Given the description of an element on the screen output the (x, y) to click on. 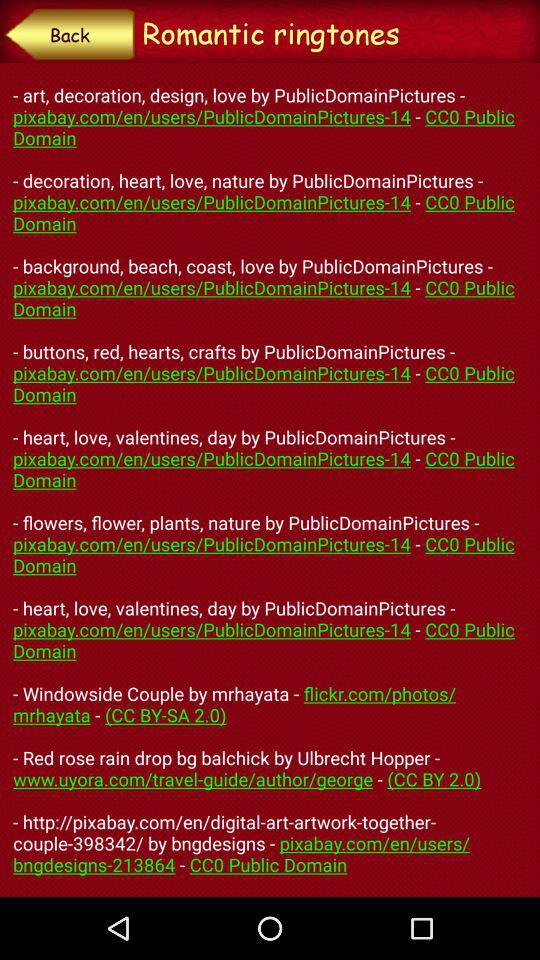
click item to the left of the romantic ringtones item (69, 34)
